Given the description of an element on the screen output the (x, y) to click on. 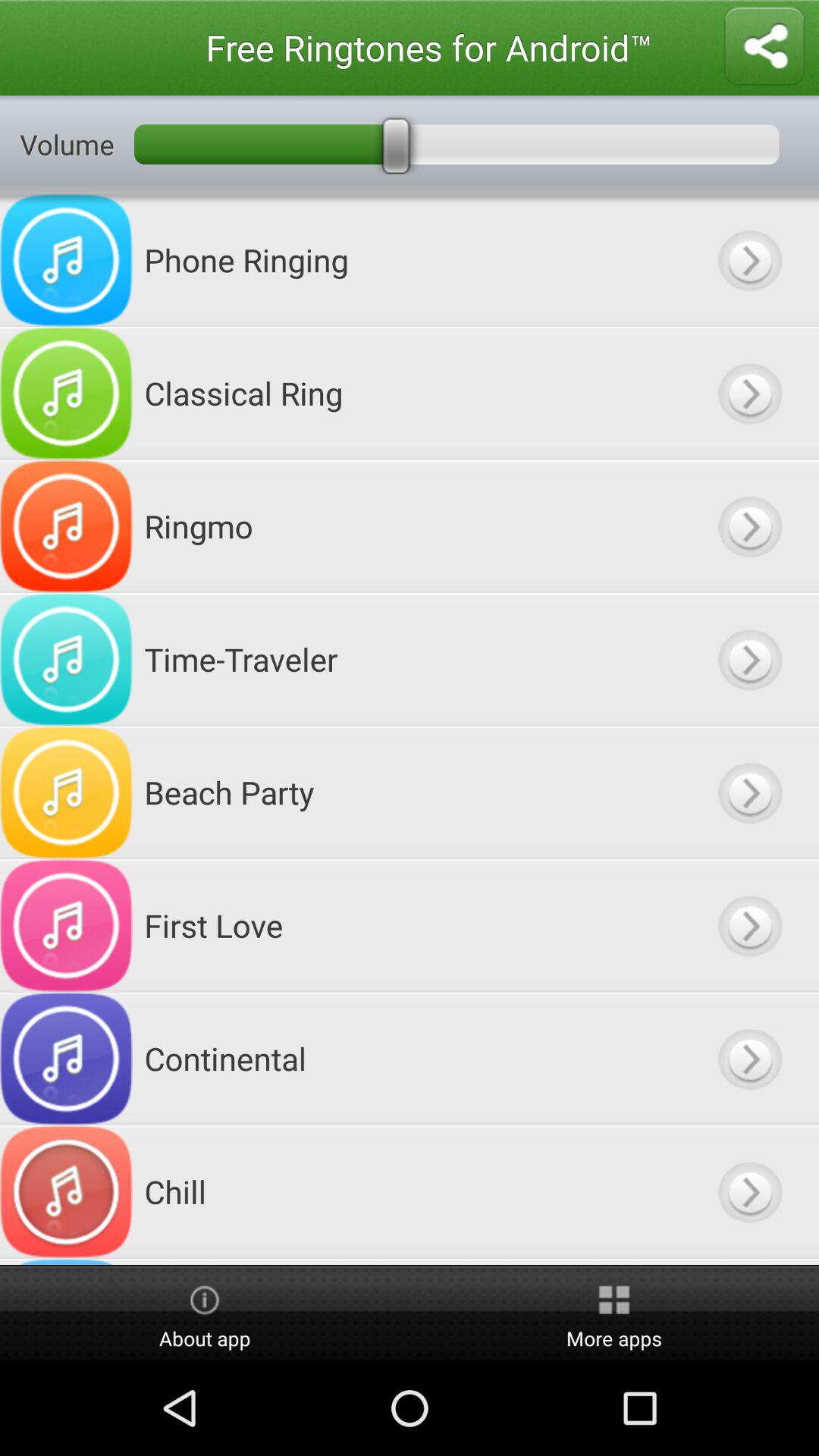
play the ringtone (749, 925)
